Given the description of an element on the screen output the (x, y) to click on. 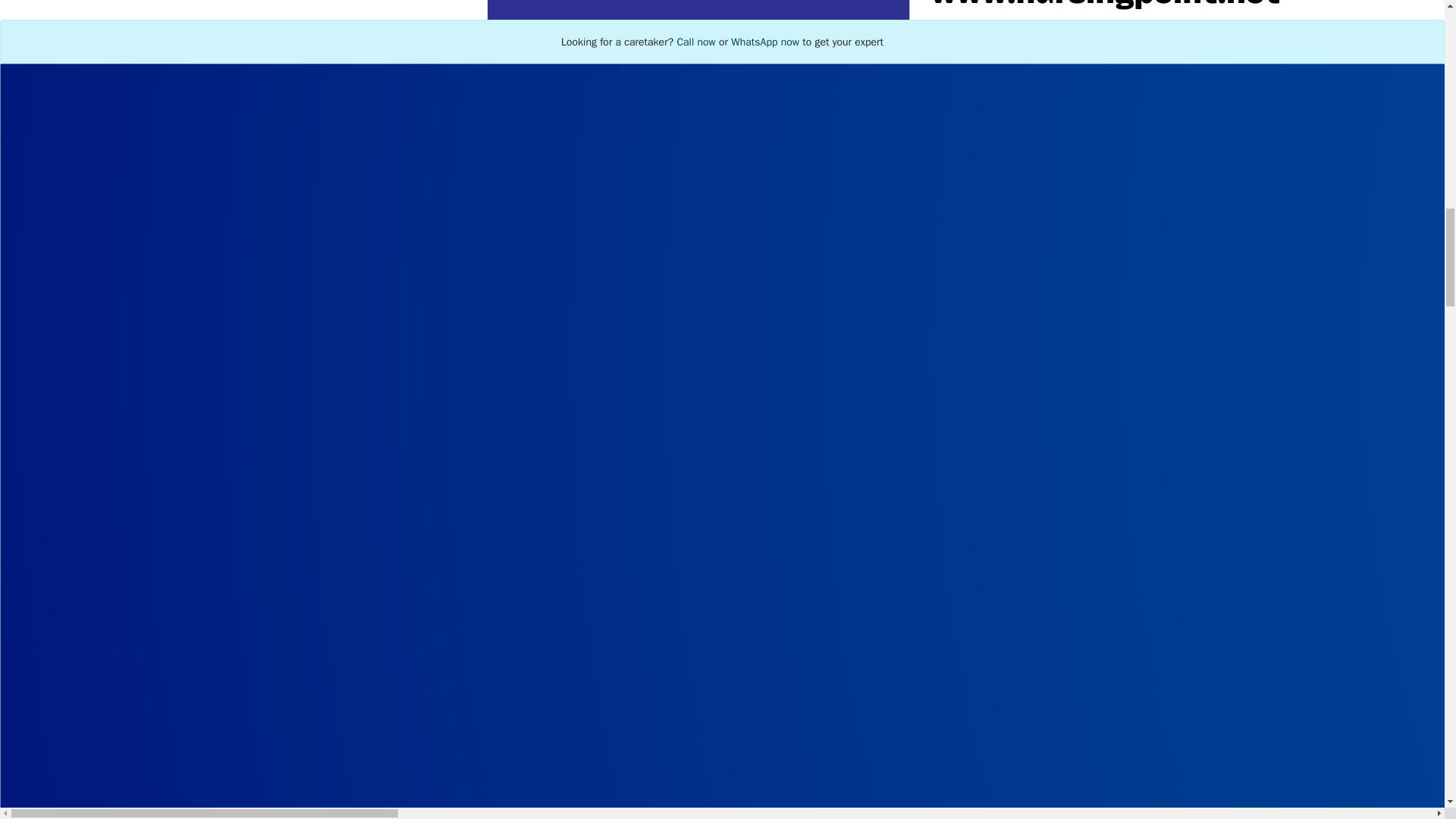
Call now (695, 42)
WhatsApp now (764, 42)
